Given the description of an element on the screen output the (x, y) to click on. 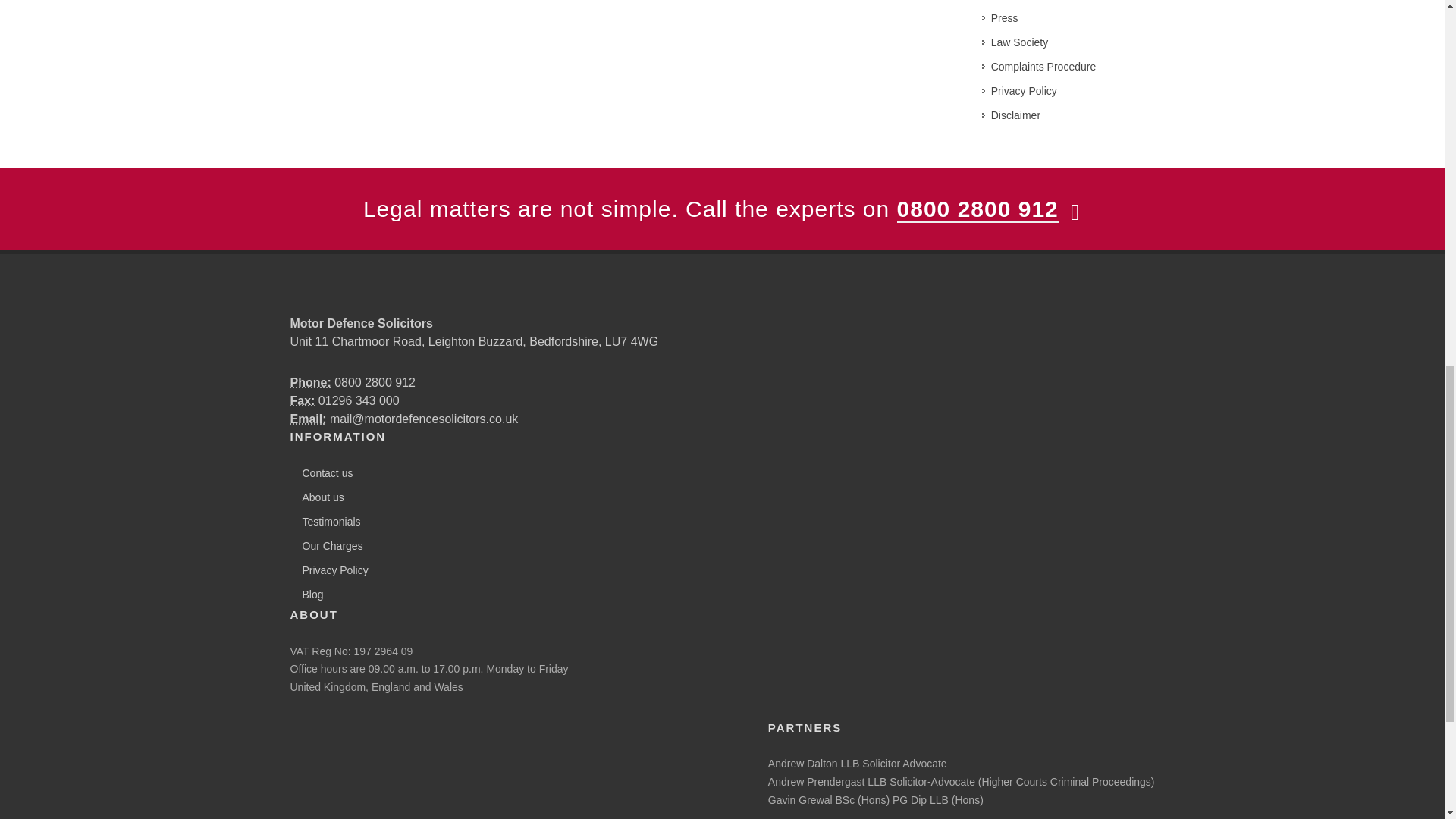
Disclaimer (1011, 115)
Phone Number (309, 382)
Our Charges (328, 546)
Law Society (1015, 42)
About us (319, 497)
Blog (308, 594)
Privacy Policy (330, 570)
Email Address (307, 418)
Contact us (323, 473)
Testimonials (327, 521)
